Given the description of an element on the screen output the (x, y) to click on. 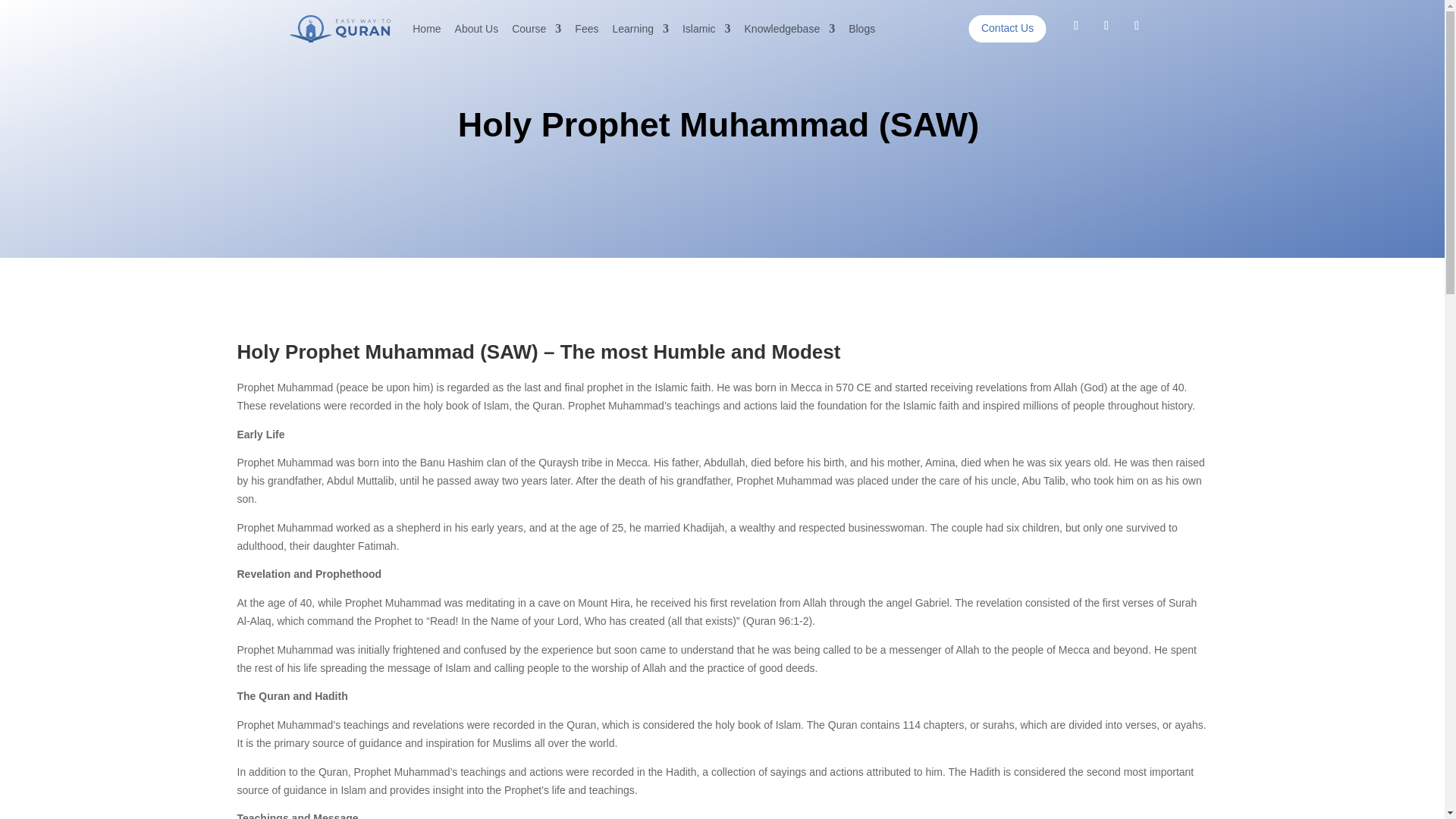
Learning (639, 28)
Follow on Facebook (1075, 25)
Follow on X (1106, 25)
Follow on Instagram (1136, 25)
